Given the description of an element on the screen output the (x, y) to click on. 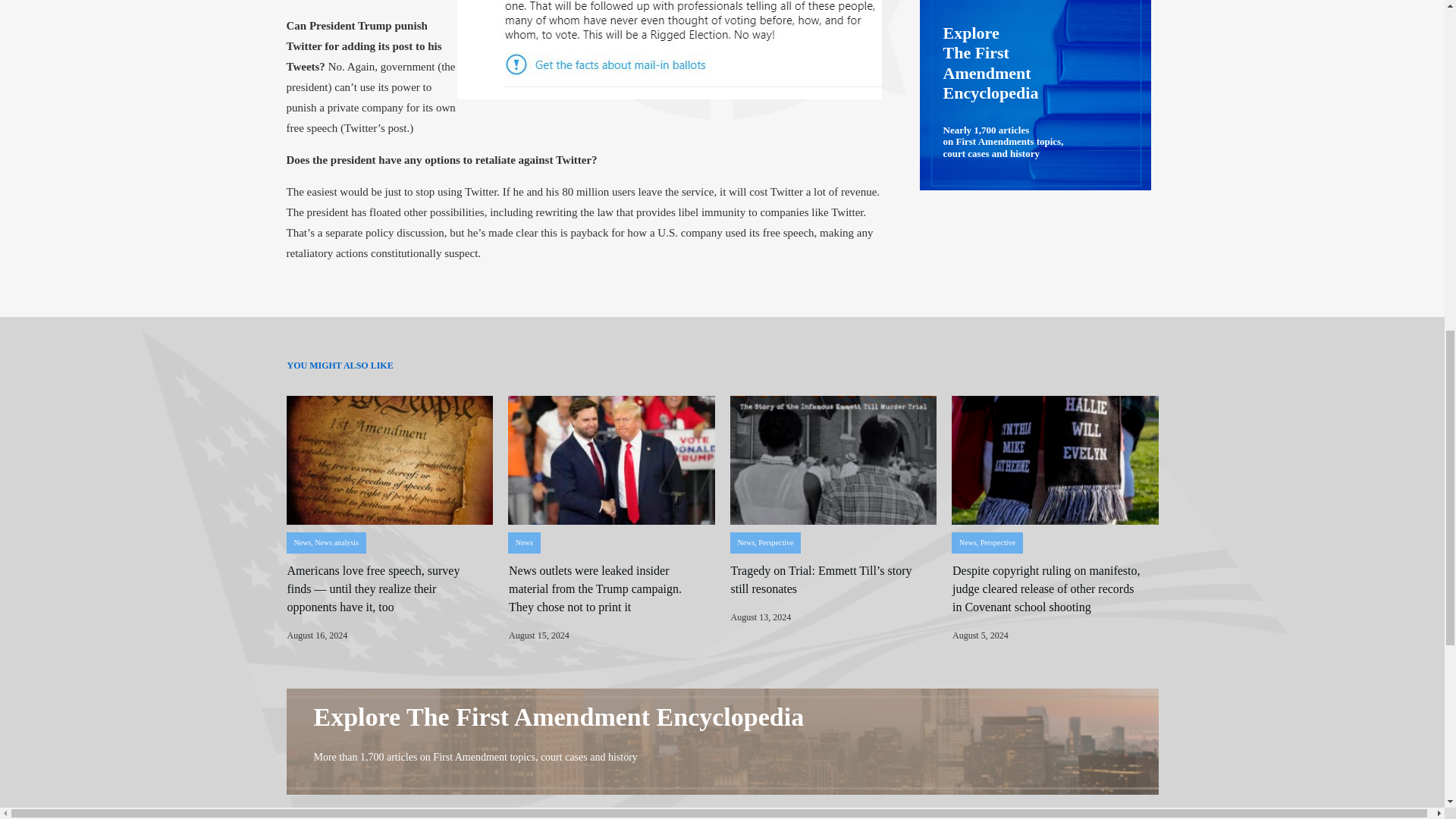
News (745, 542)
Perspective (775, 542)
News analysis (336, 542)
Explore The First Amendment Encyclopedia (559, 716)
News analysis (336, 542)
Perspective (996, 542)
News (523, 542)
News (967, 542)
